Given the description of an element on the screen output the (x, y) to click on. 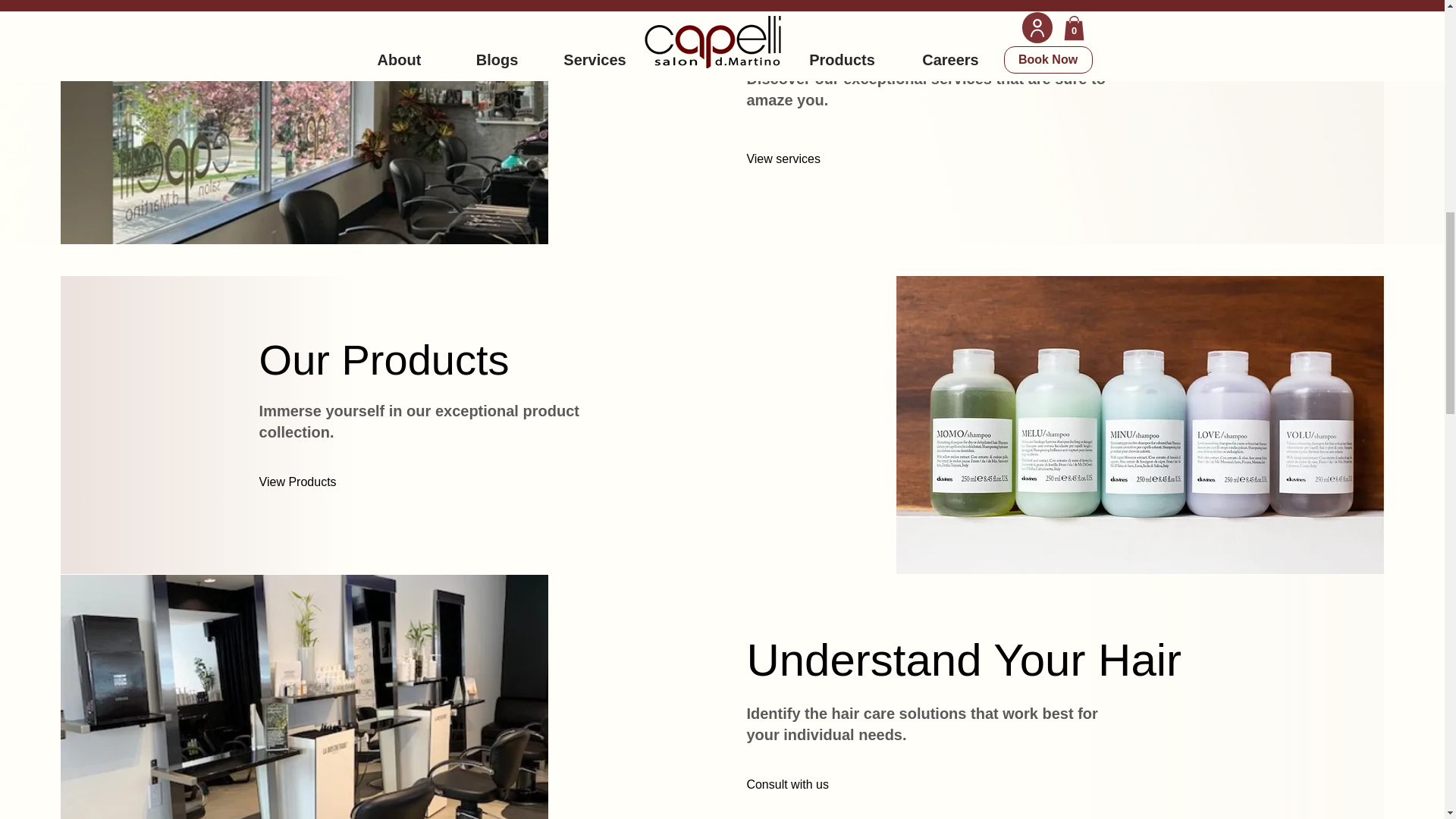
View services (831, 158)
Consult with us (812, 784)
View Products (326, 481)
